Given the description of an element on the screen output the (x, y) to click on. 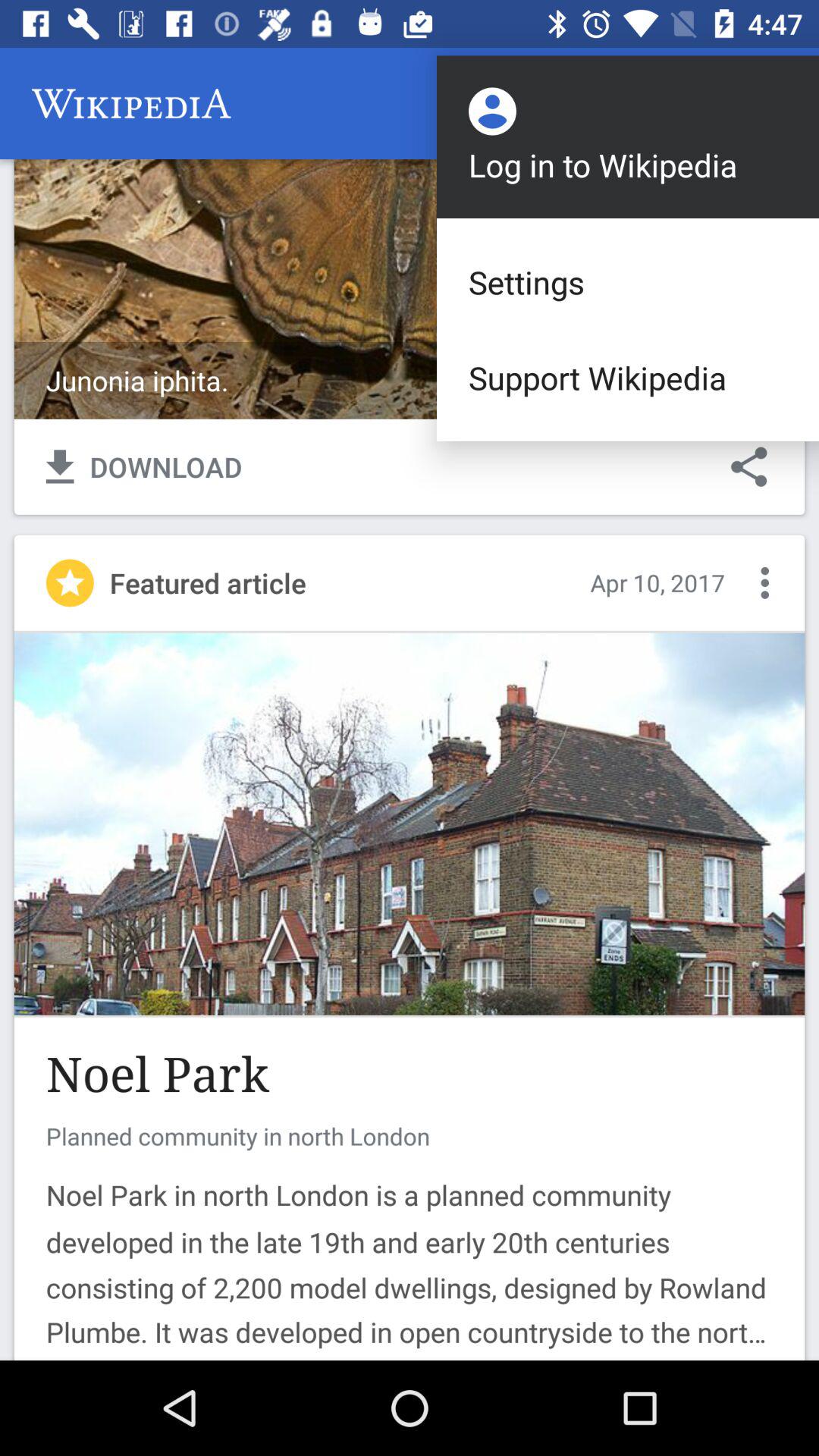
choose the item below the settings (627, 377)
